Given the description of an element on the screen output the (x, y) to click on. 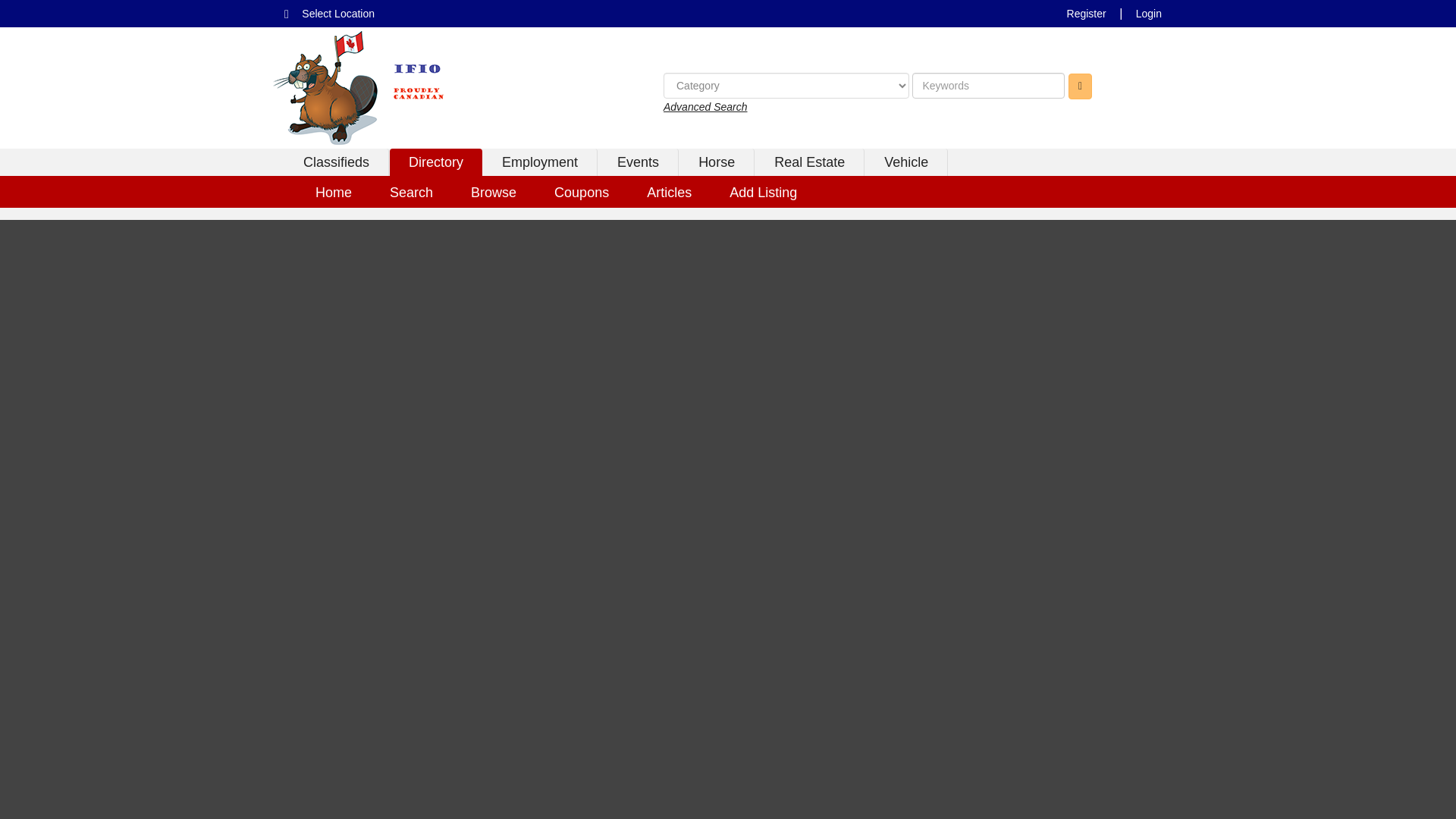
Register (1086, 14)
Real Estate (809, 162)
Select Location (338, 14)
Select Location (338, 14)
Browse (493, 191)
Home (334, 191)
Directory (435, 162)
Add Listing (762, 191)
Login (1148, 14)
Events (638, 162)
Search (411, 191)
Horse (716, 162)
Classifieds (335, 162)
Employment (539, 162)
Advanced Search (705, 106)
